Given the description of an element on the screen output the (x, y) to click on. 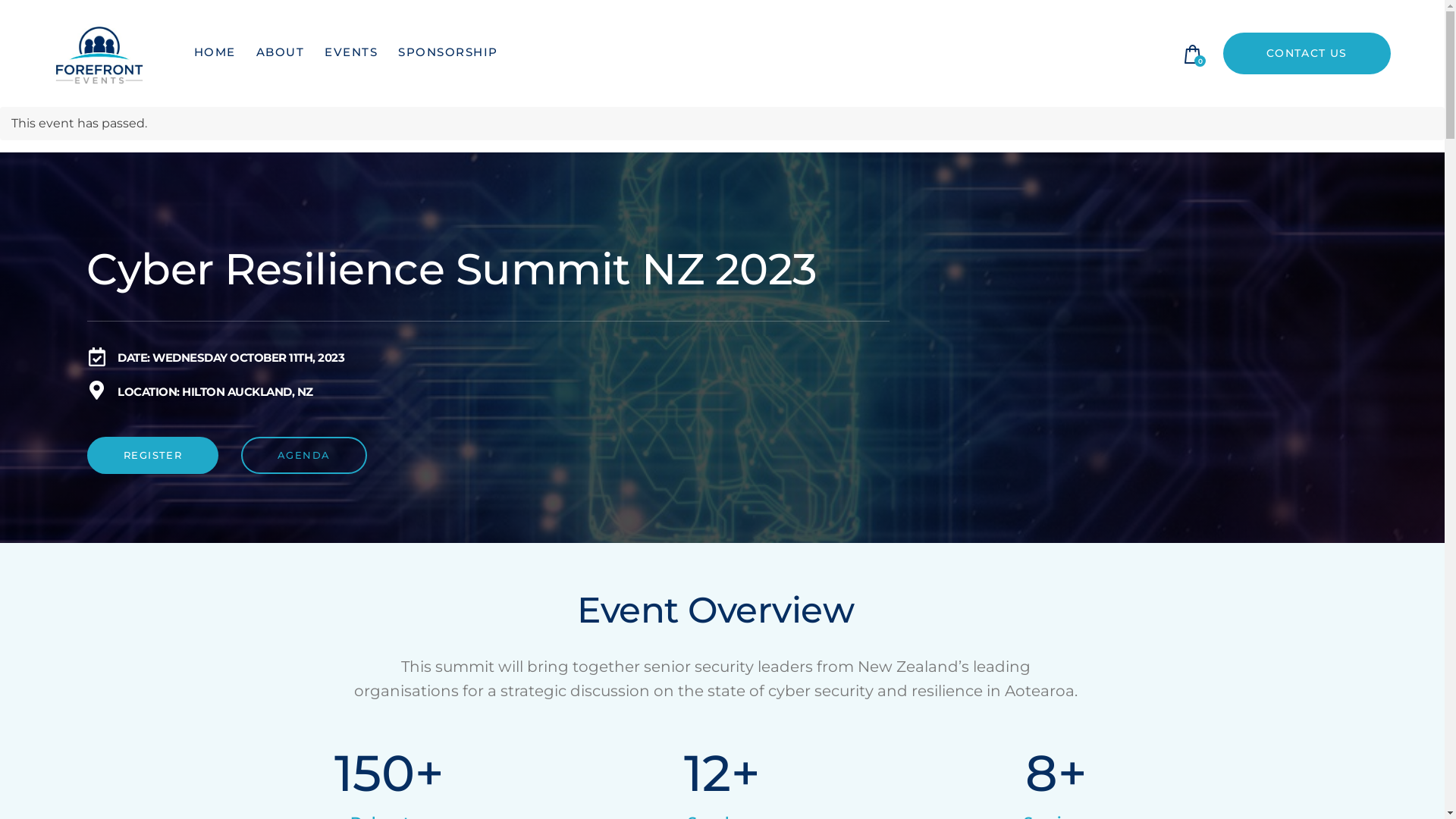
ABOUT Element type: text (279, 53)
REGISTER Element type: text (152, 454)
AGENDA Element type: text (303, 454)
SPONSORSHIP Element type: text (448, 53)
0 Element type: text (1193, 54)
HOME Element type: text (214, 53)
EVENTS Element type: text (351, 53)
CONTACT US Element type: text (1306, 53)
